Given the description of an element on the screen output the (x, y) to click on. 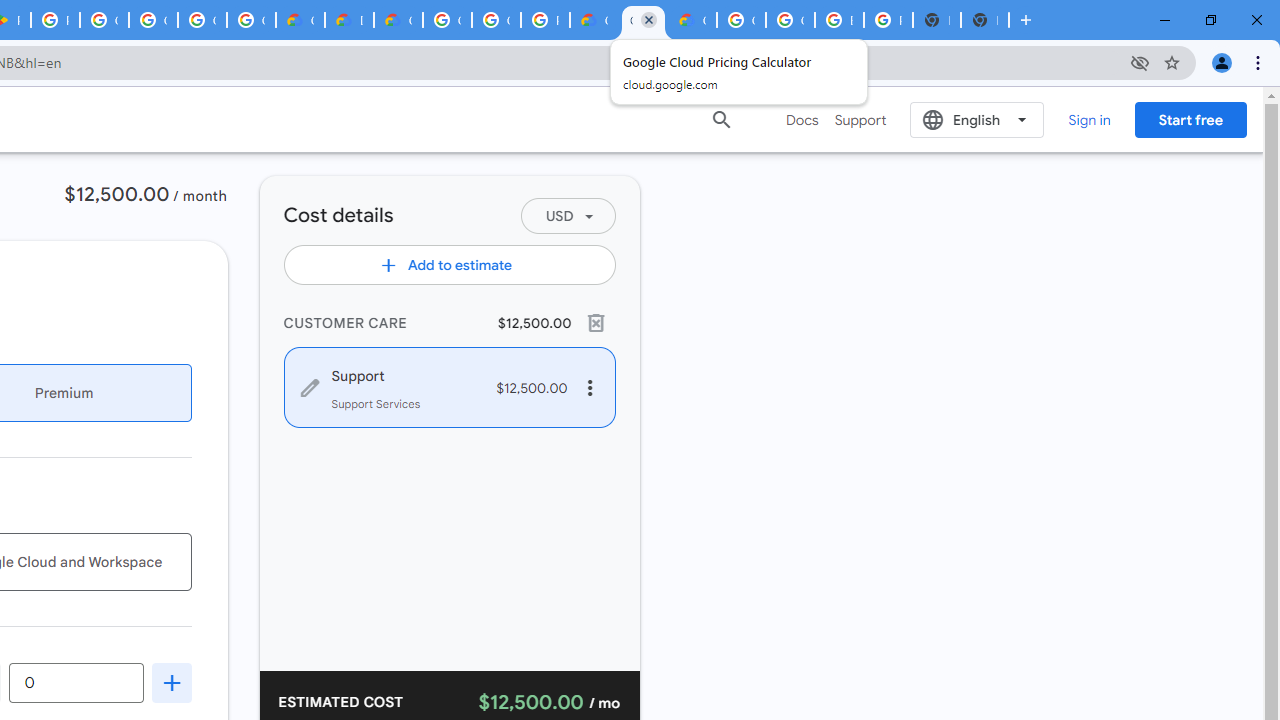
Delete group (594, 322)
Customer Care | Google Cloud (300, 20)
Google Cloud Platform (740, 20)
Docs (802, 119)
Google Cloud Pricing Calculator (643, 20)
Google Workspace - Specific Terms (201, 20)
Customer Care | Google Cloud (594, 20)
Edit service (309, 387)
